Given the description of an element on the screen output the (x, y) to click on. 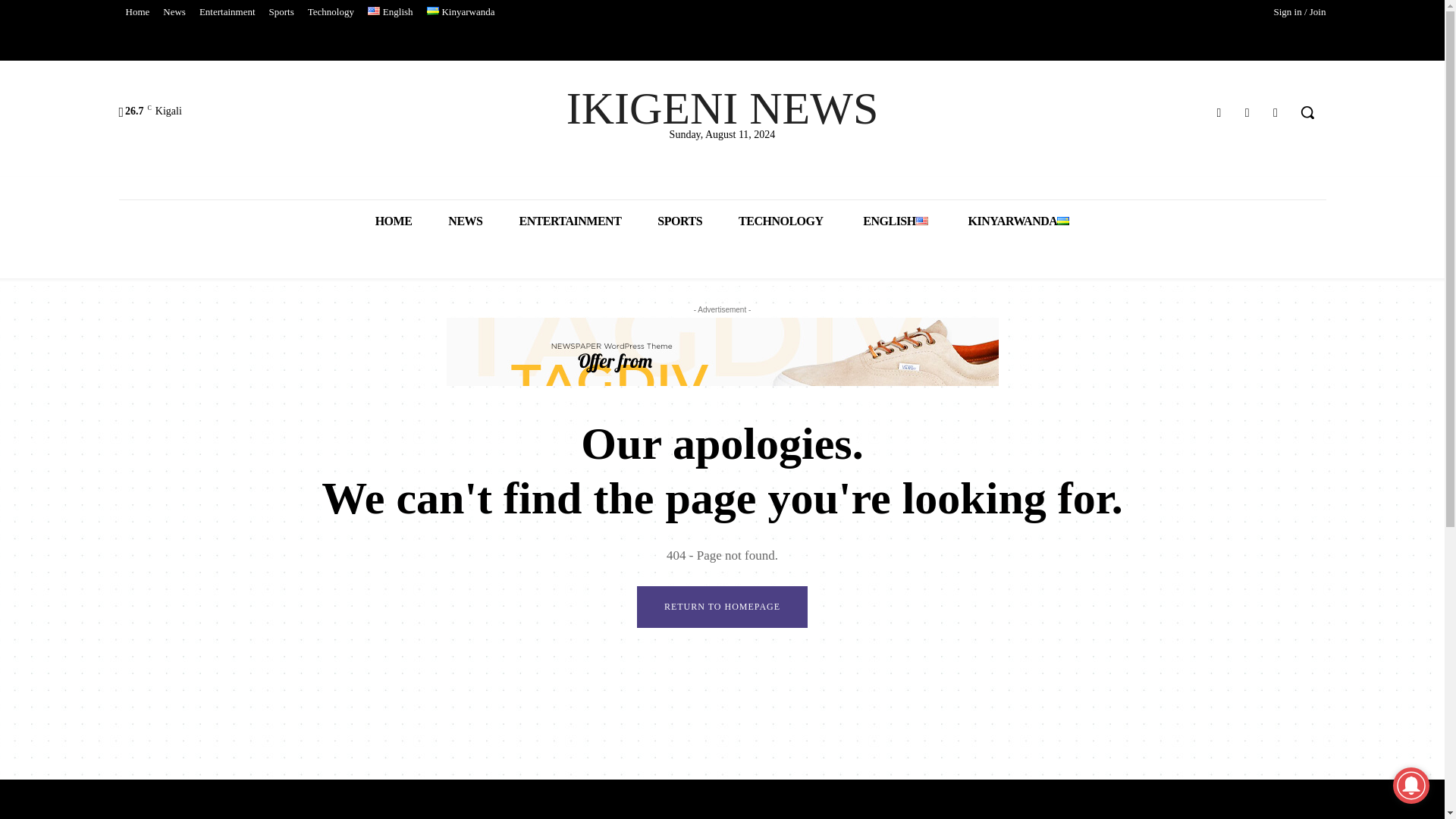
Sports (281, 12)
IKIGENI NEWS (721, 108)
TECHNOLOGY (780, 220)
Kinyarwanda (461, 12)
ENTERTAINMENT (569, 220)
News (173, 12)
ENGLISH (893, 220)
HOME (393, 220)
Youtube (1275, 112)
Facebook (1218, 112)
